Given the description of an element on the screen output the (x, y) to click on. 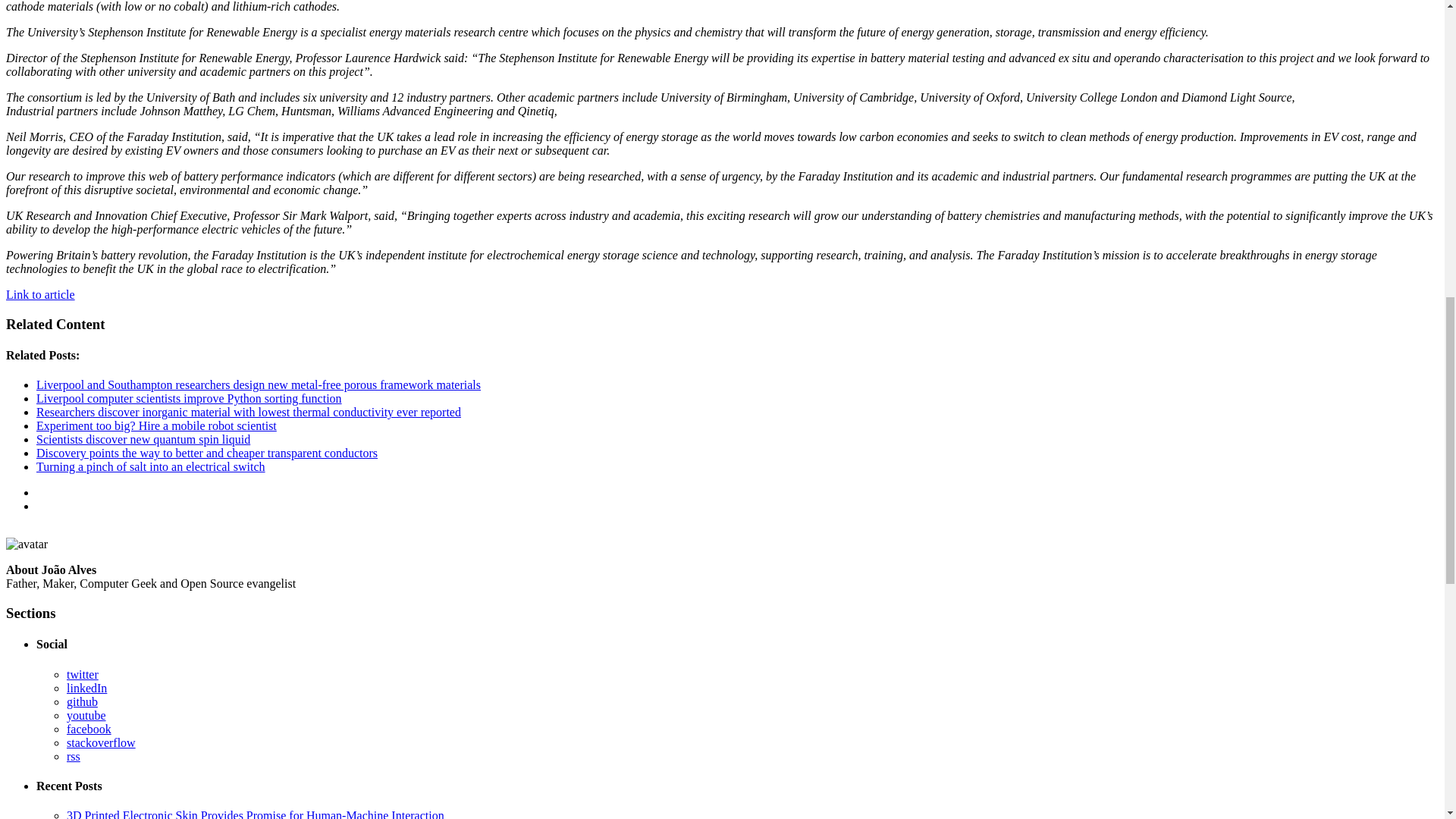
Scientists discover new quantum spin liquid (143, 439)
Link to article (40, 294)
Experiment too big? Hire a mobile robot scientist (156, 425)
